Given the description of an element on the screen output the (x, y) to click on. 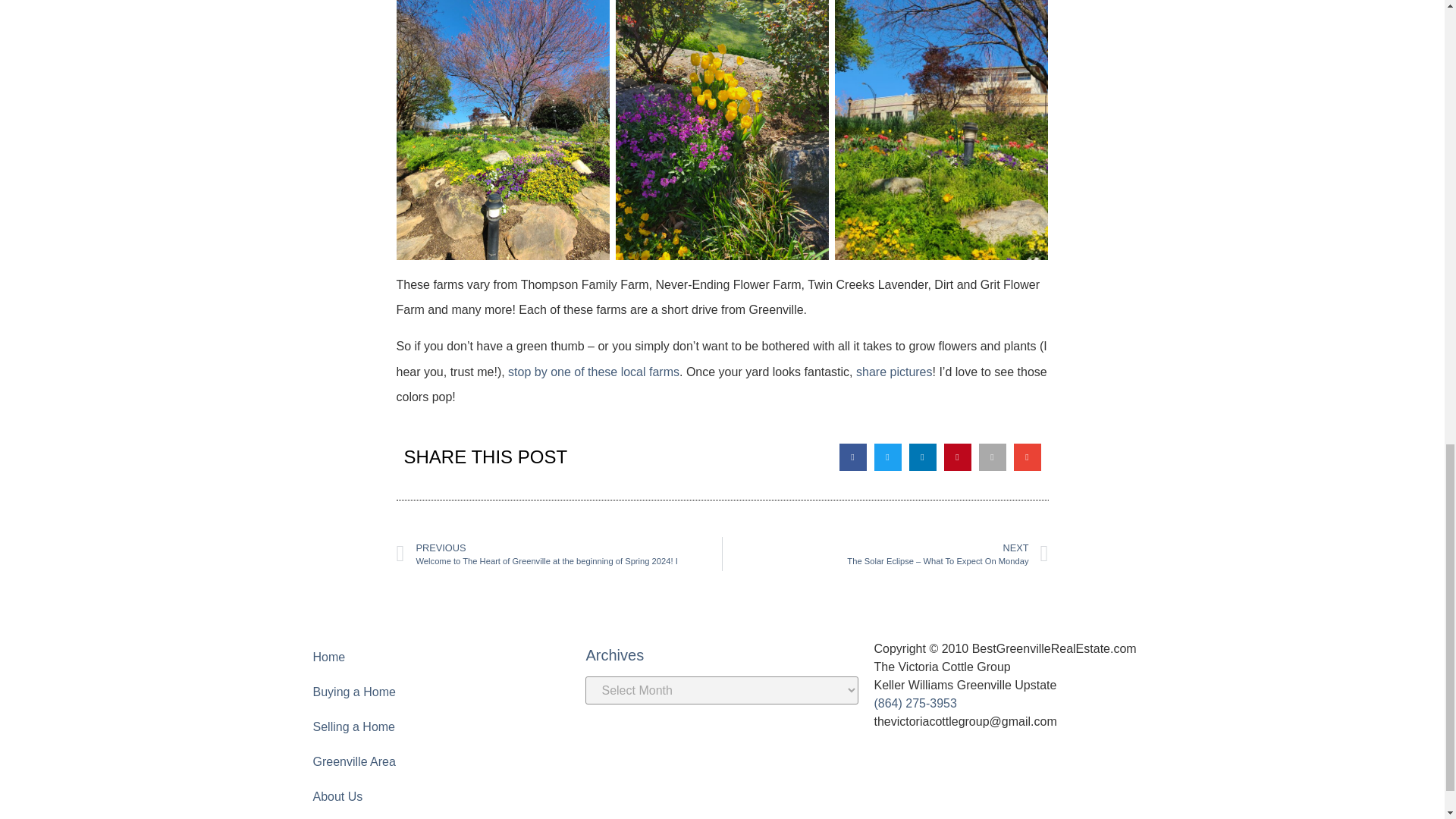
stop by one of these local farms (593, 371)
Selling a Home (433, 727)
share pictures (894, 371)
About Us (433, 796)
Buying a Home (433, 692)
Home (433, 656)
Greenville Area (433, 761)
